Given the description of an element on the screen output the (x, y) to click on. 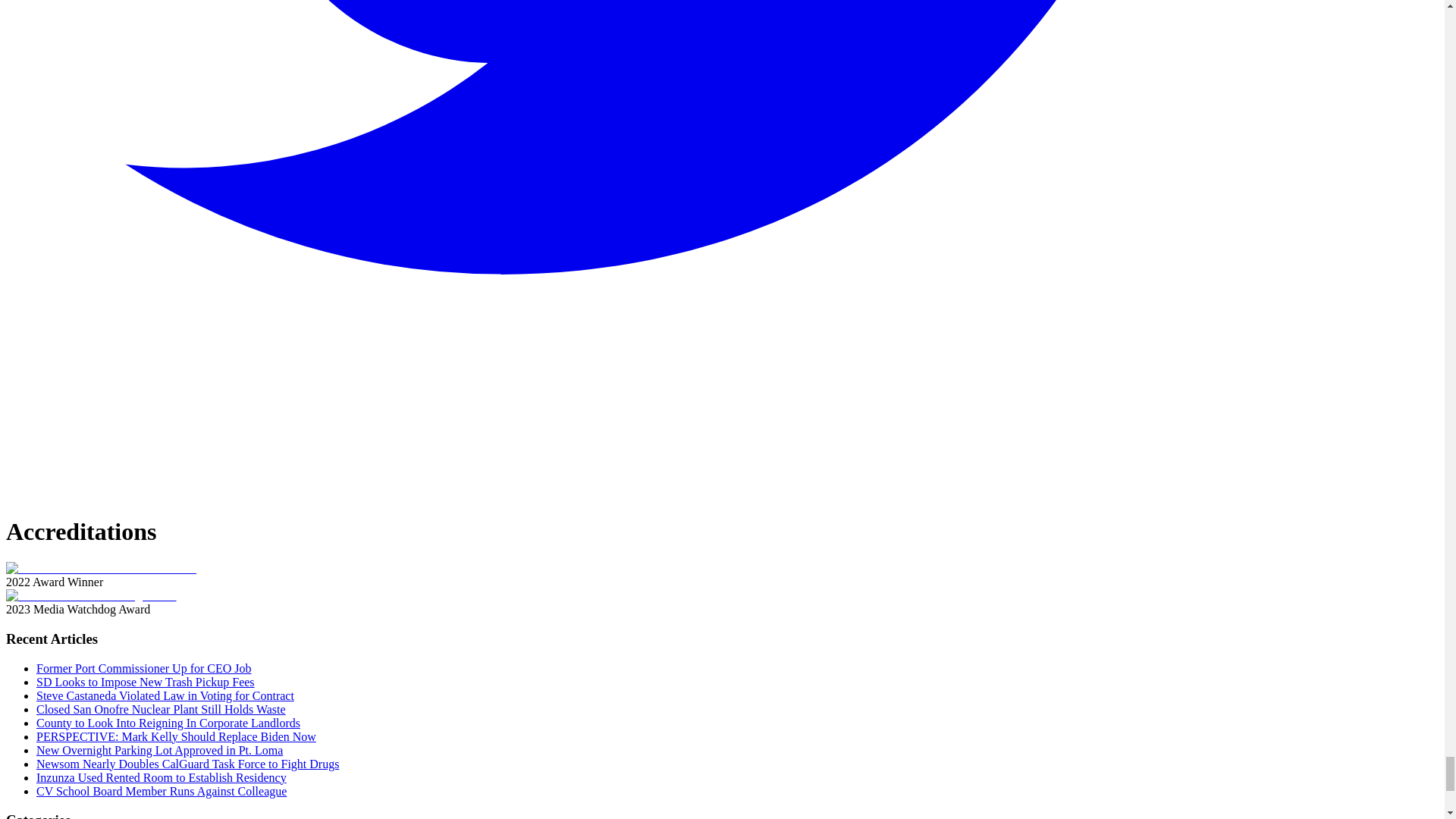
Steve Castaneda Violated Law in Voting for Contract (165, 695)
Former Port Commissioner Up for CEO Job (143, 667)
SD Looks to Impose New Trash Pickup Fees (145, 681)
